Given the description of an element on the screen output the (x, y) to click on. 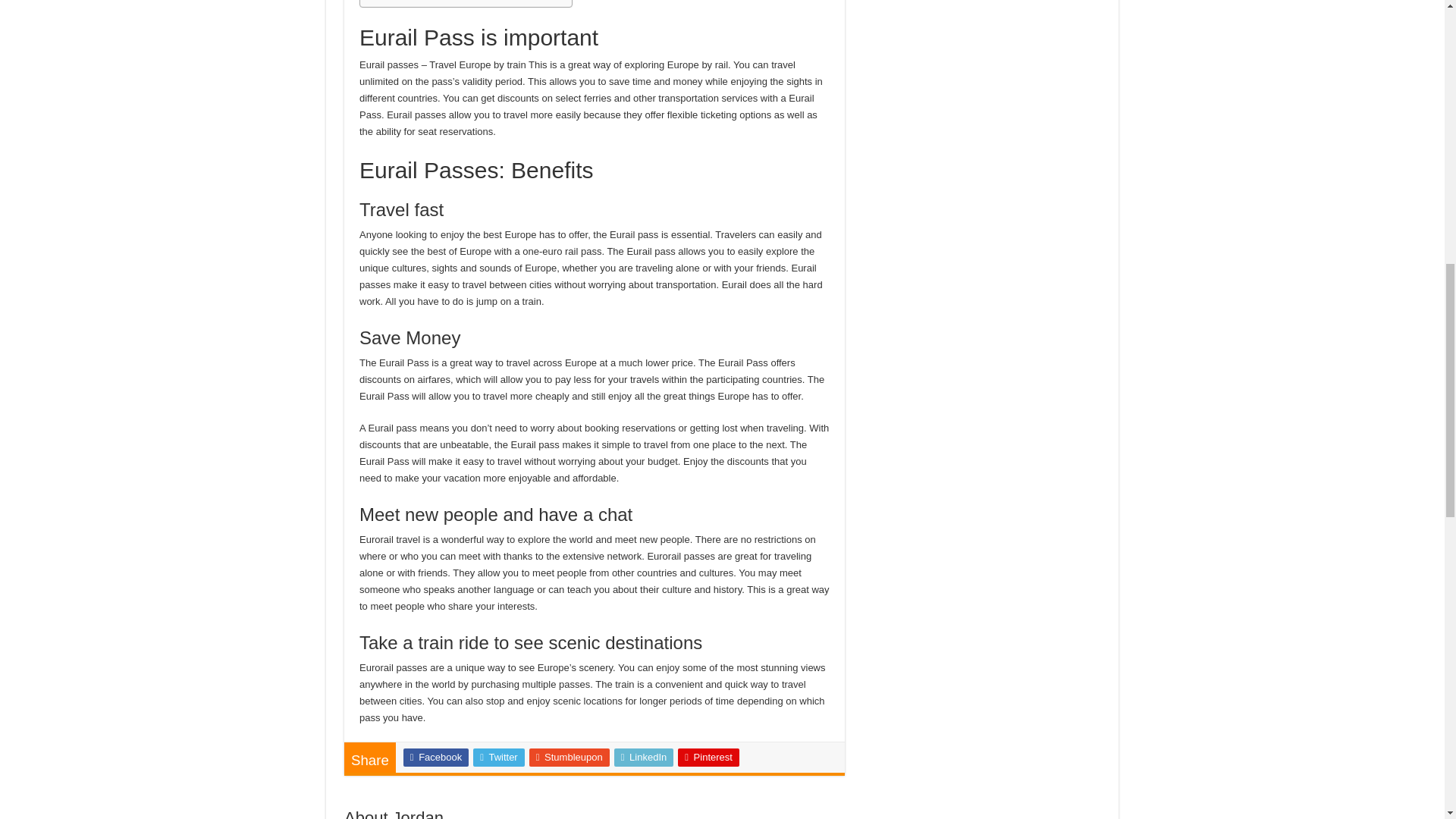
Scroll To Top (1421, 60)
Stumbleupon (569, 757)
Facebook (435, 757)
Twitter (498, 757)
LinkedIn (644, 757)
